Given the description of an element on the screen output the (x, y) to click on. 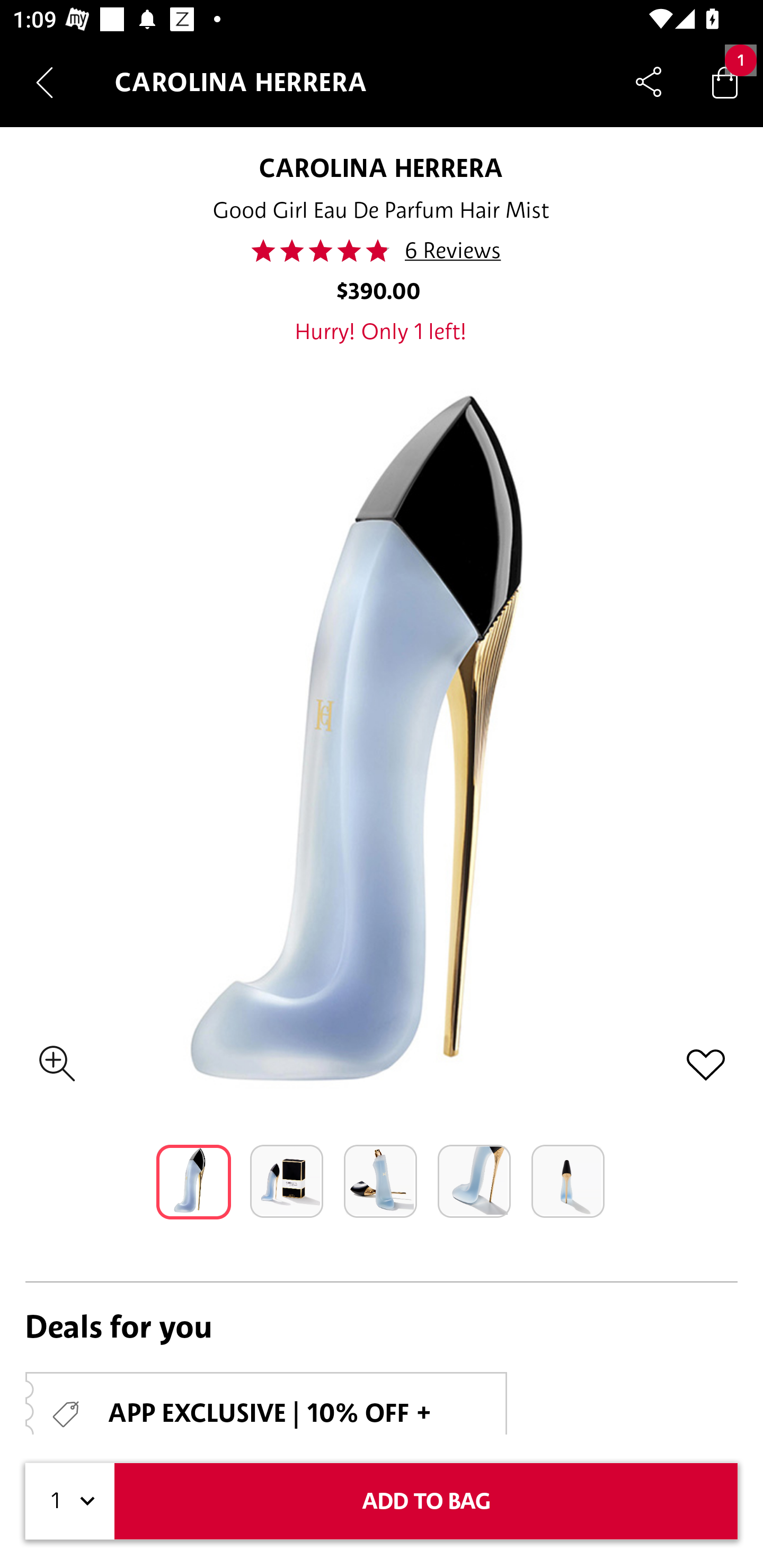
Navigate up (44, 82)
Share (648, 81)
Bag (724, 81)
CAROLINA HERRERA (381, 167)
48.0 6 Reviews (381, 250)
1 (69, 1500)
ADD TO BAG (425, 1500)
